Given the description of an element on the screen output the (x, y) to click on. 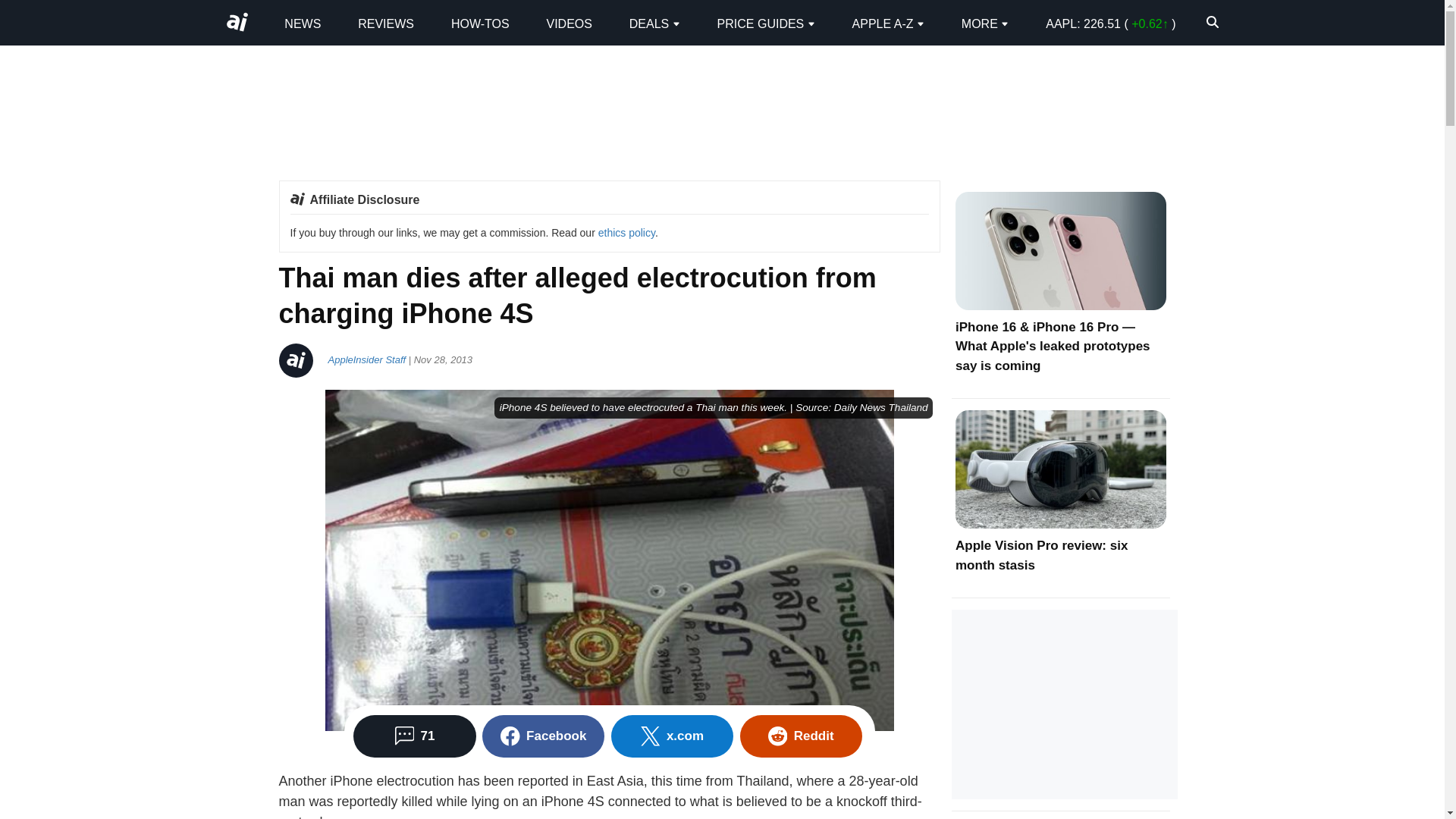
NEWS (301, 23)
How-Tos (480, 23)
HOW-TOS (480, 23)
VIDEOS (568, 23)
Reviews (385, 23)
Videos (568, 23)
REVIEWS (385, 23)
News (301, 23)
